Given the description of an element on the screen output the (x, y) to click on. 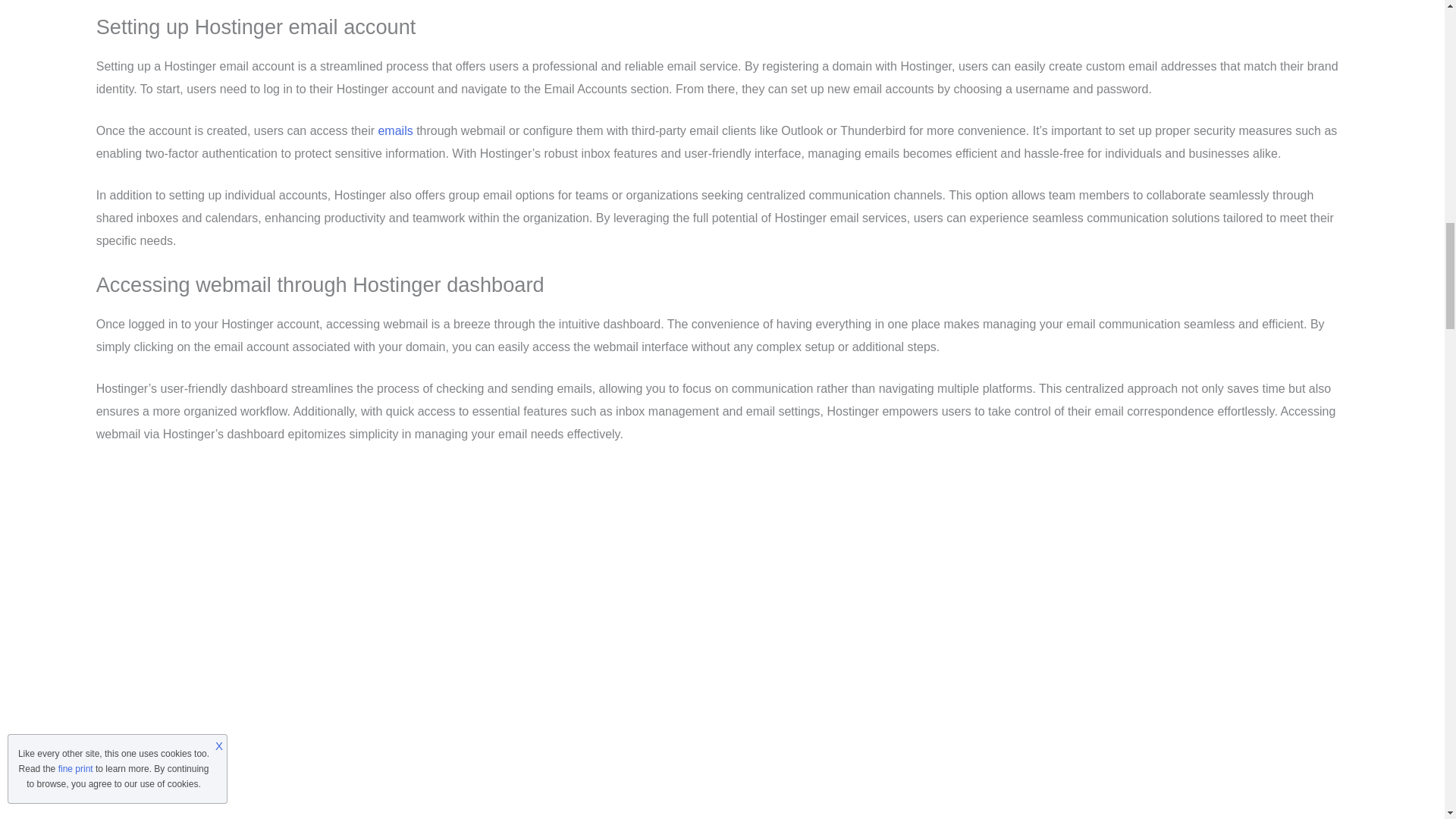
emails (394, 130)
